Given the description of an element on the screen output the (x, y) to click on. 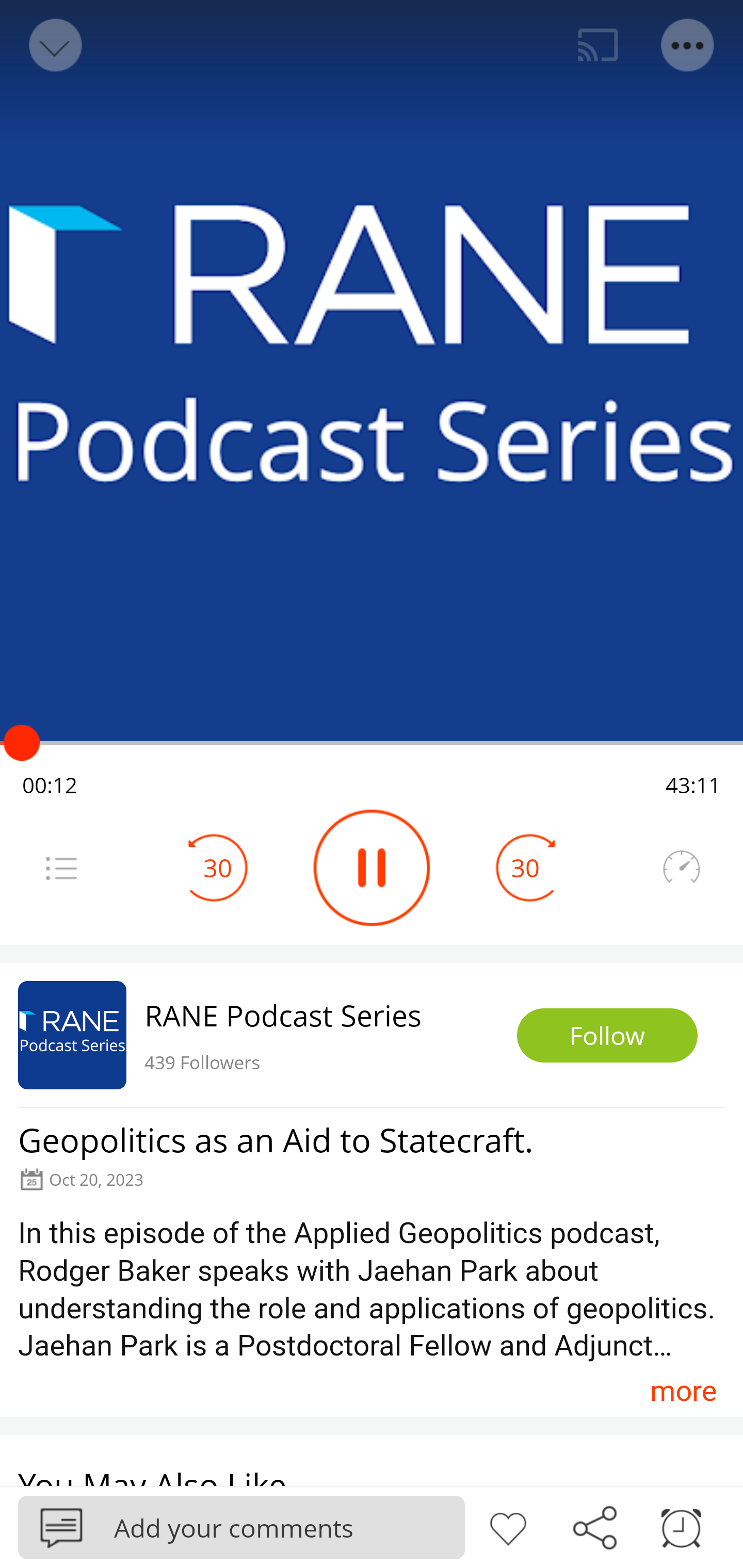
Back (53, 45)
Cast. Disconnected (597, 45)
Menu (688, 45)
Play (371, 867)
30 Seek Backward (217, 867)
30 Seek Forward (525, 867)
Menu (60, 867)
Speedometer (681, 867)
RANE Podcast Series 439 Followers Follow (371, 1034)
Follow (607, 1035)
more (682, 1390)
Like (508, 1526)
Share (594, 1526)
Sleep timer (681, 1526)
Podbean Add your comments (241, 1526)
